Given the description of an element on the screen output the (x, y) to click on. 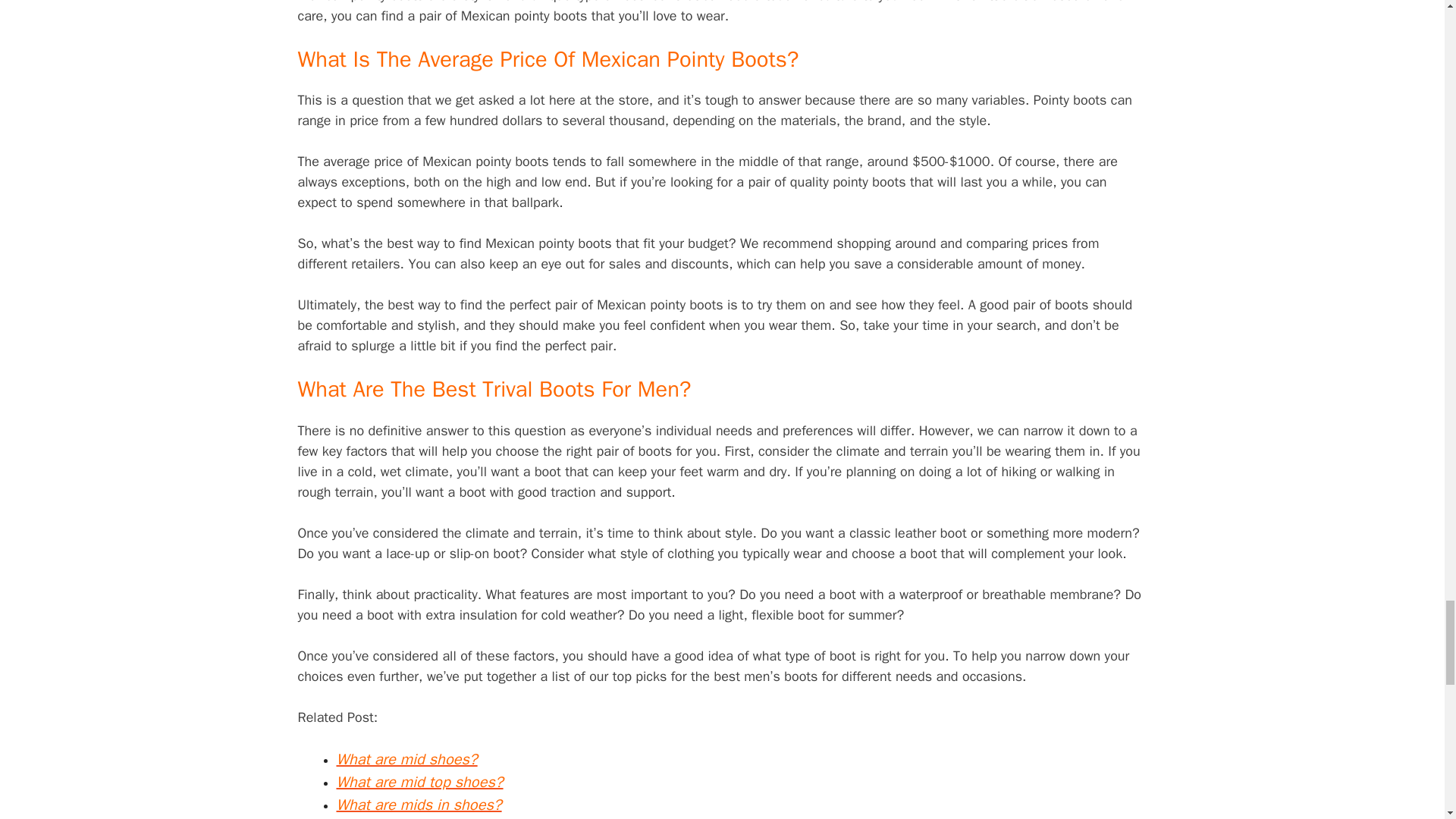
What are mid top shoes? (419, 782)
What are mids in shoes? (419, 804)
What are mid shoes? (406, 759)
